Given the description of an element on the screen output the (x, y) to click on. 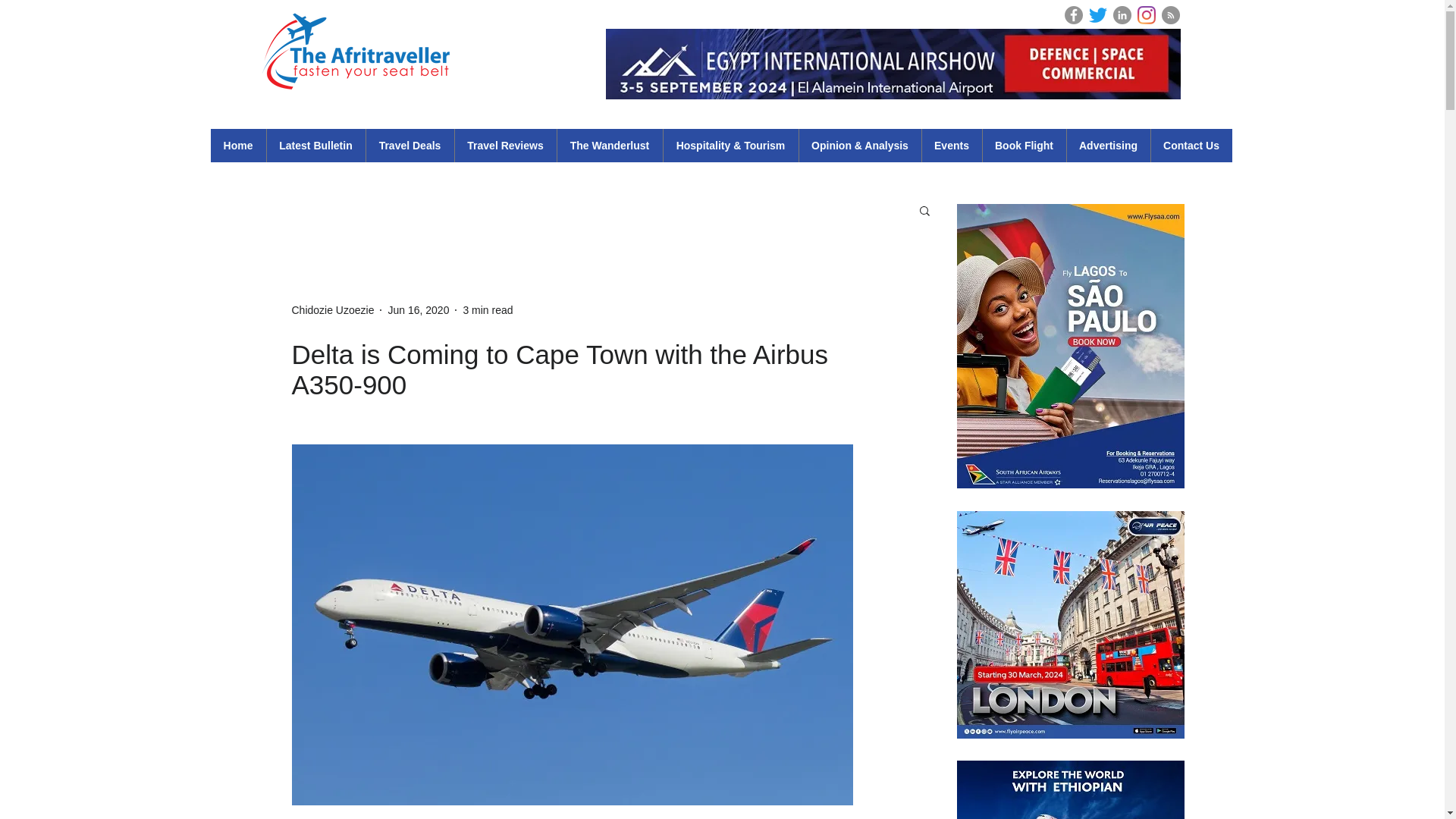
Login (1201, 13)
Contact Us (1190, 145)
Latest Bulletin (314, 145)
Travel Deals (409, 145)
Travel Reviews (504, 145)
Chidozie Uzoezie (332, 309)
Events (950, 145)
The Wanderlust (609, 145)
Jun 16, 2020 (417, 309)
3 min read (487, 309)
